Given the description of an element on the screen output the (x, y) to click on. 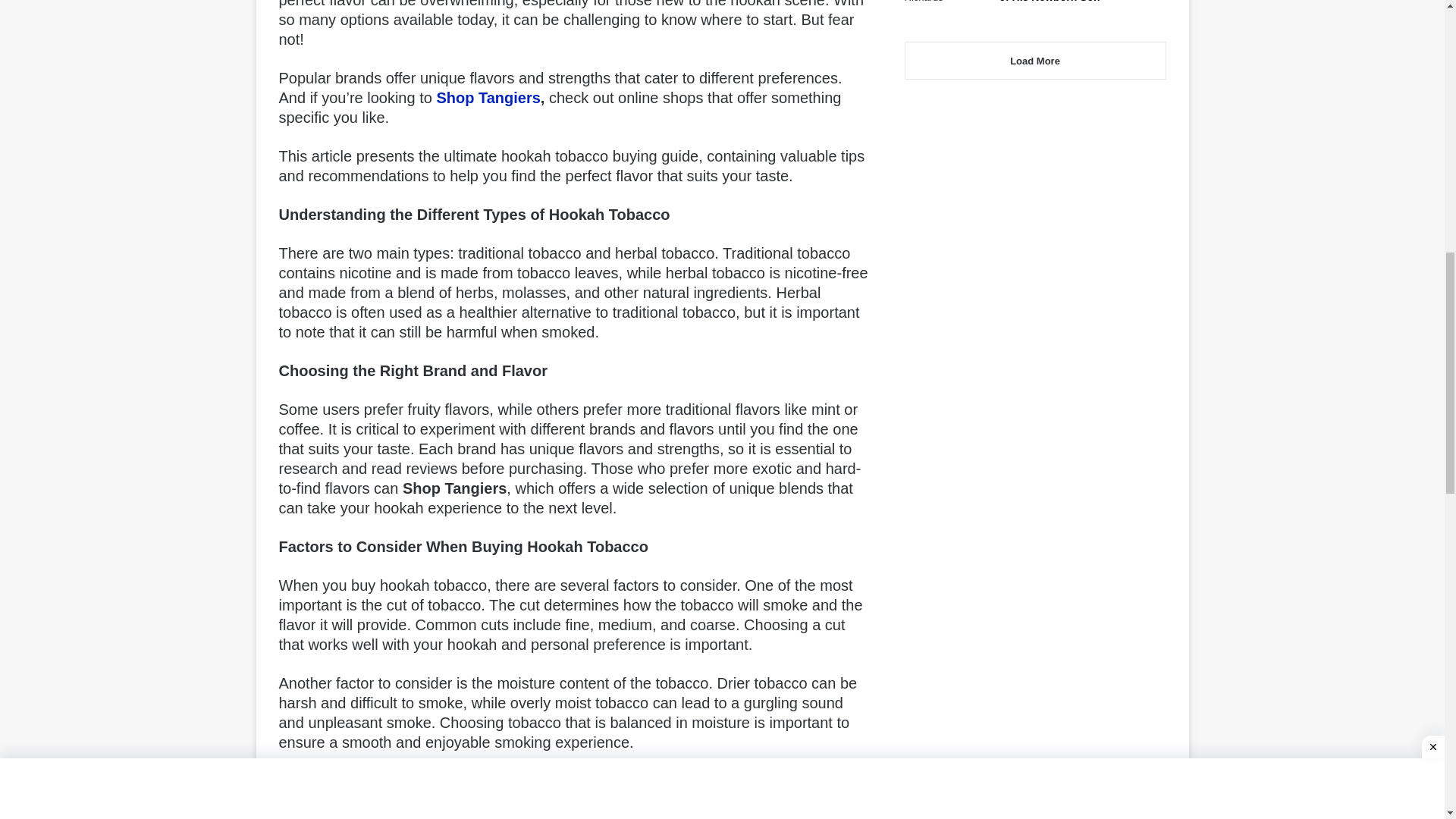
Shop Tangiers (487, 97)
